Given the description of an element on the screen output the (x, y) to click on. 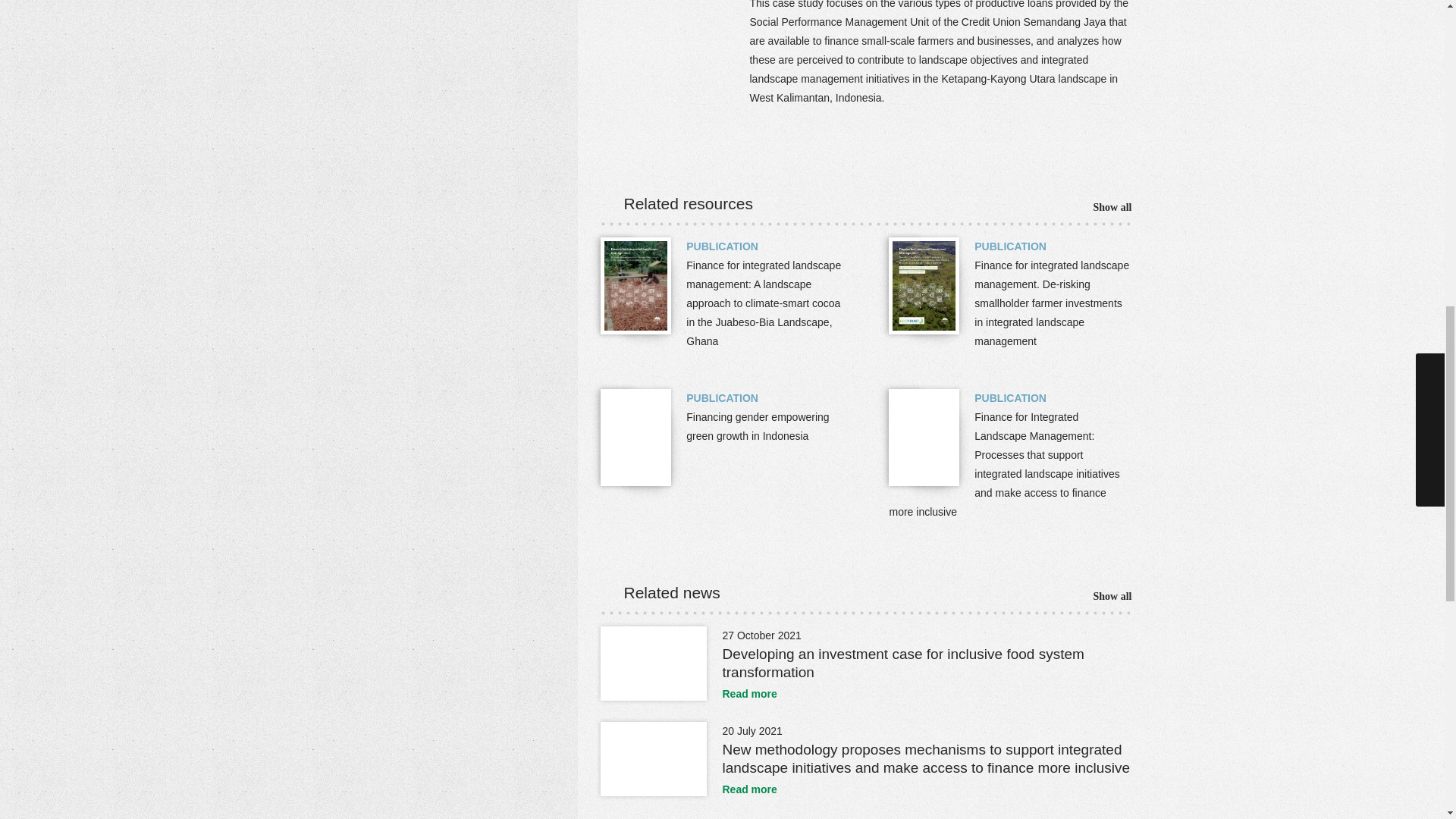
Show all (1101, 207)
